Given the description of an element on the screen output the (x, y) to click on. 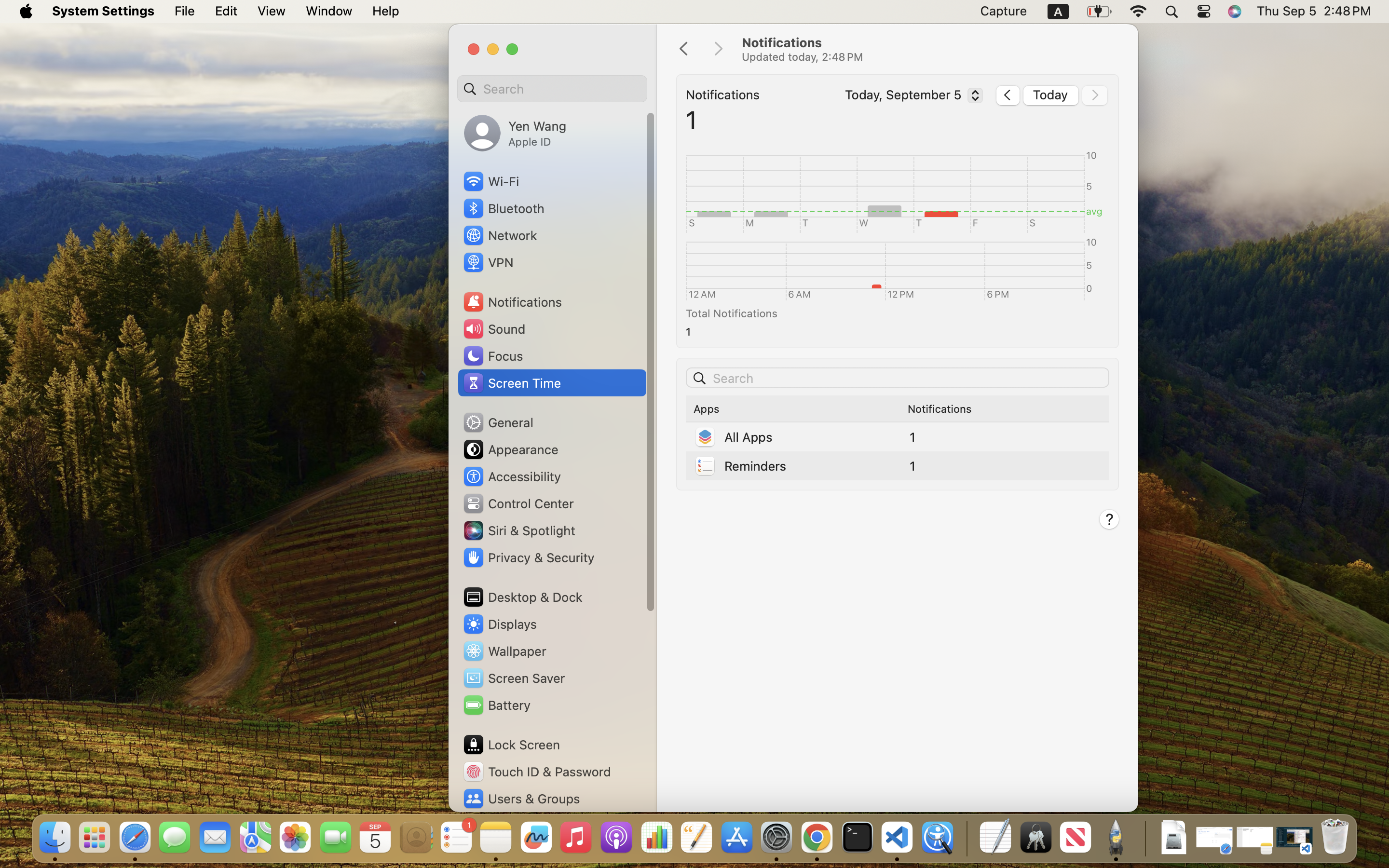
Displays Element type: AXStaticText (499, 623)
Reminders Element type: AXStaticText (739, 465)
Siri & Spotlight Element type: AXStaticText (518, 530)
Network Element type: AXStaticText (499, 234)
Desktop & Dock Element type: AXStaticText (522, 596)
